Given the description of an element on the screen output the (x, y) to click on. 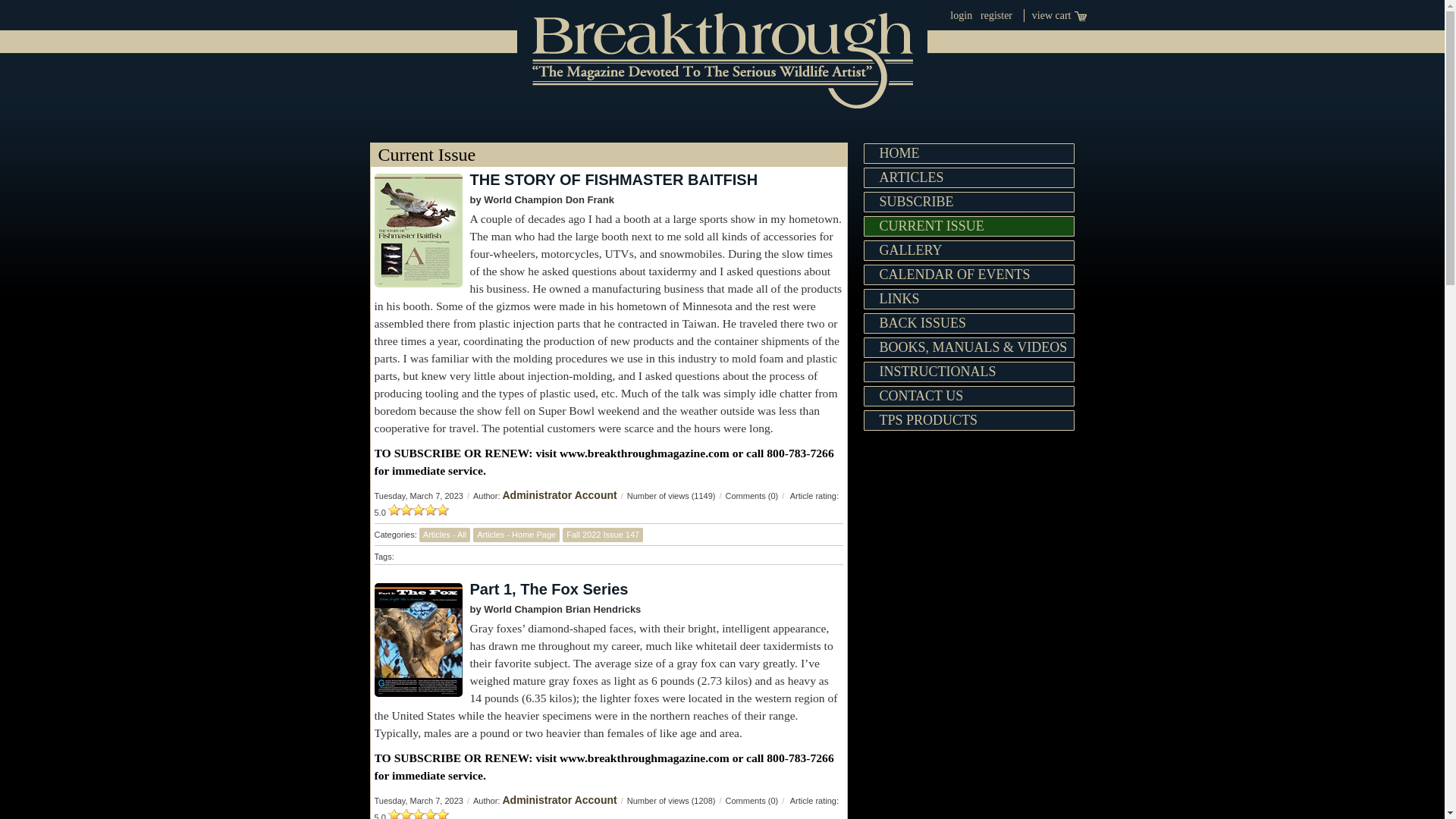
Administrator Account (558, 799)
Administrator Account (558, 494)
Fall 2022 Issue 147 (602, 534)
view cart (1059, 15)
SUBSCRIBE (968, 201)
HOME (968, 153)
GALLERY (968, 250)
LINKS (968, 299)
Articles - All (444, 534)
Breakthrough Magazine (721, 55)
CURRENT ISSUE (968, 226)
CALENDAR OF EVENTS (968, 274)
register (995, 15)
TPS PRODUCTS (968, 420)
INSTRUCTIONALS (968, 371)
